Given the description of an element on the screen output the (x, y) to click on. 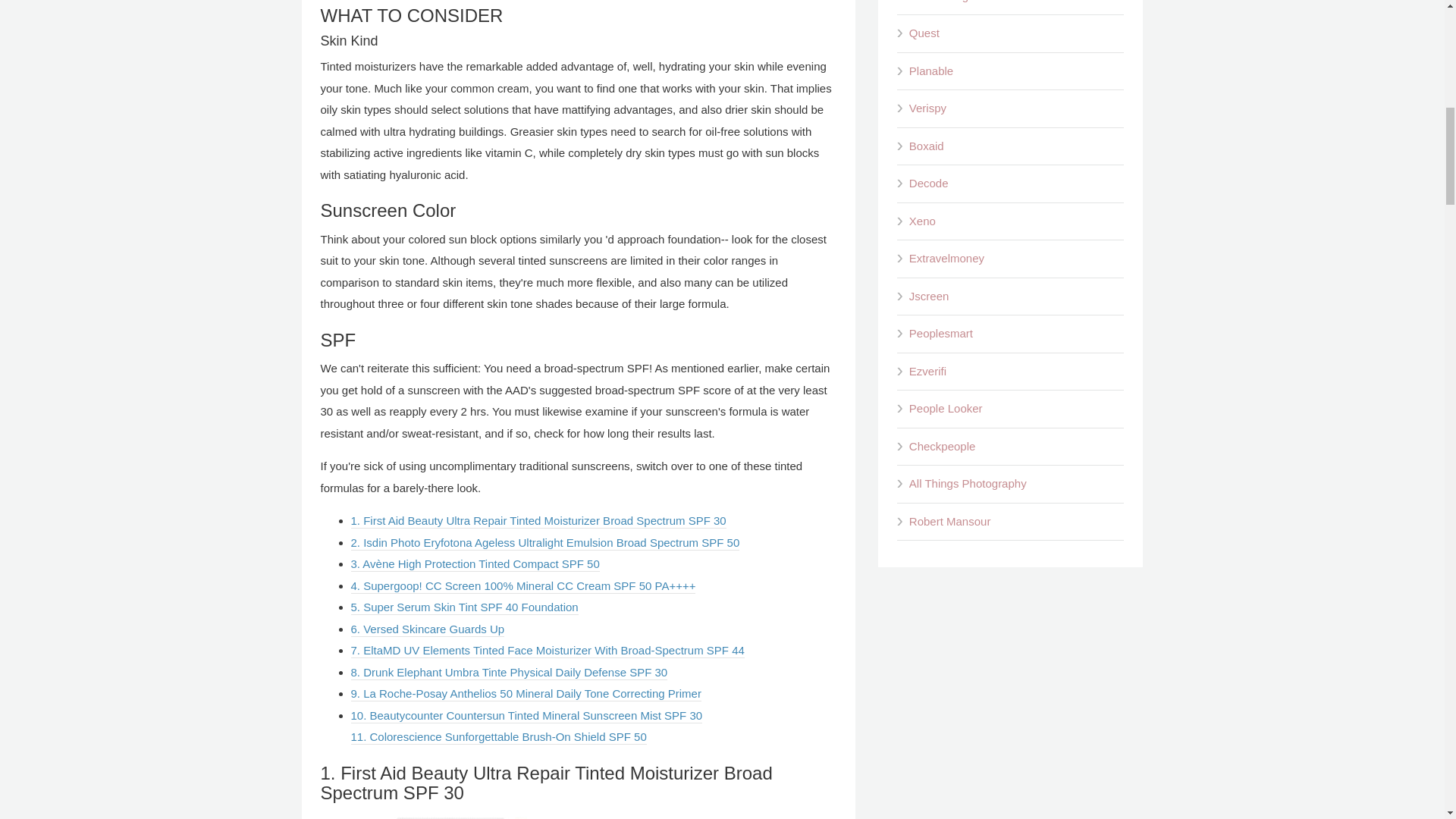
11. Colorescience Sunforgettable Brush-On Shield SPF 50 (498, 737)
5. Super Serum Skin Tint SPF 40 Foundation (464, 607)
8. Drunk Elephant Umbra Tinte Physical Daily Defense SPF 30 (508, 672)
6. Versed Skincare Guards Up (426, 629)
